Given the description of an element on the screen output the (x, y) to click on. 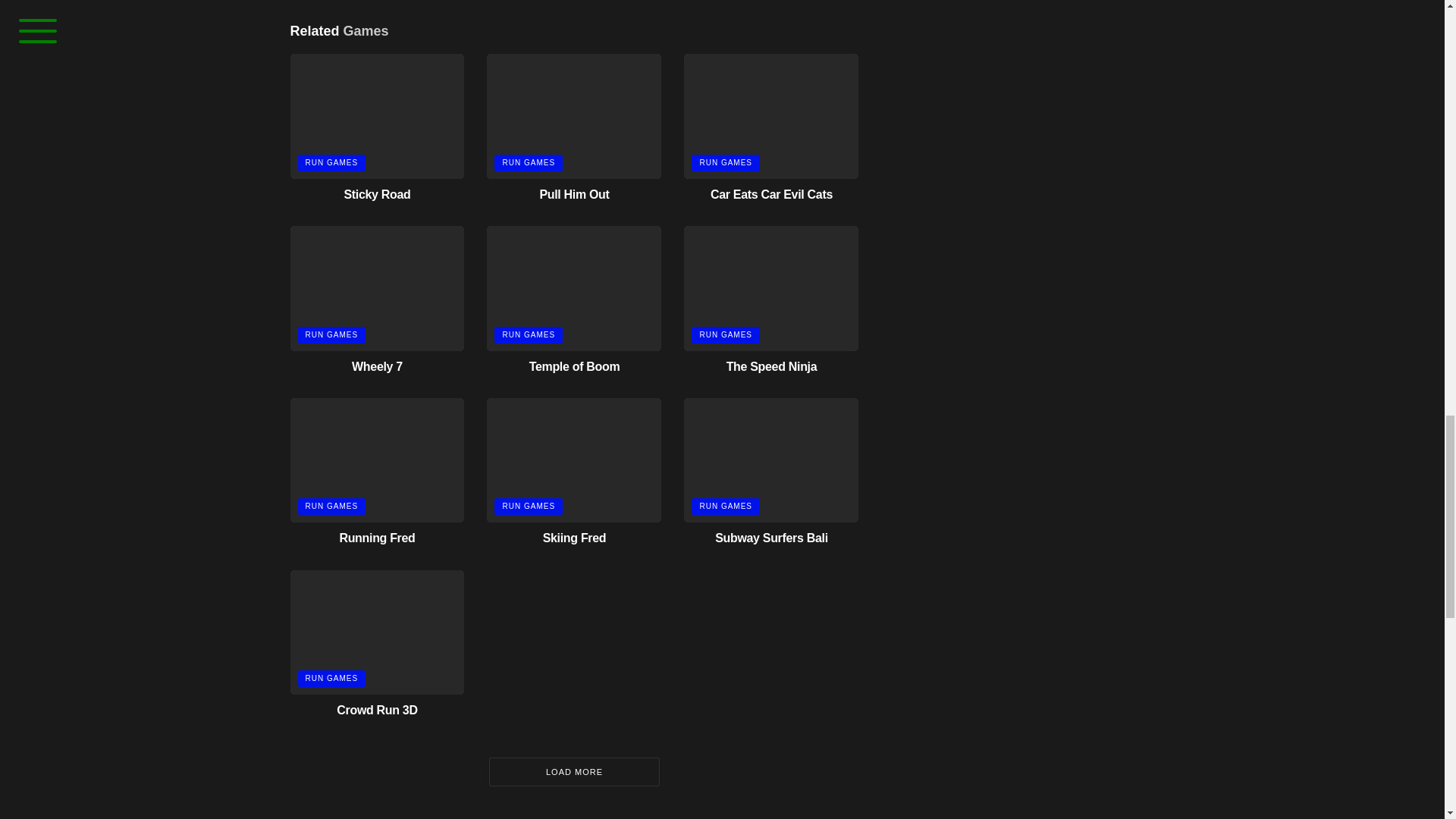
The Speed Ninja (771, 366)
Pull Him Out (573, 194)
RUN GAMES (528, 162)
RUN GAMES (725, 162)
Car Eats Car Evil Cats (771, 194)
RUN GAMES (528, 334)
Temple of Boom (574, 366)
RUN GAMES (331, 162)
Wheely 7 (377, 366)
Sticky Road (376, 194)
